Given the description of an element on the screen output the (x, y) to click on. 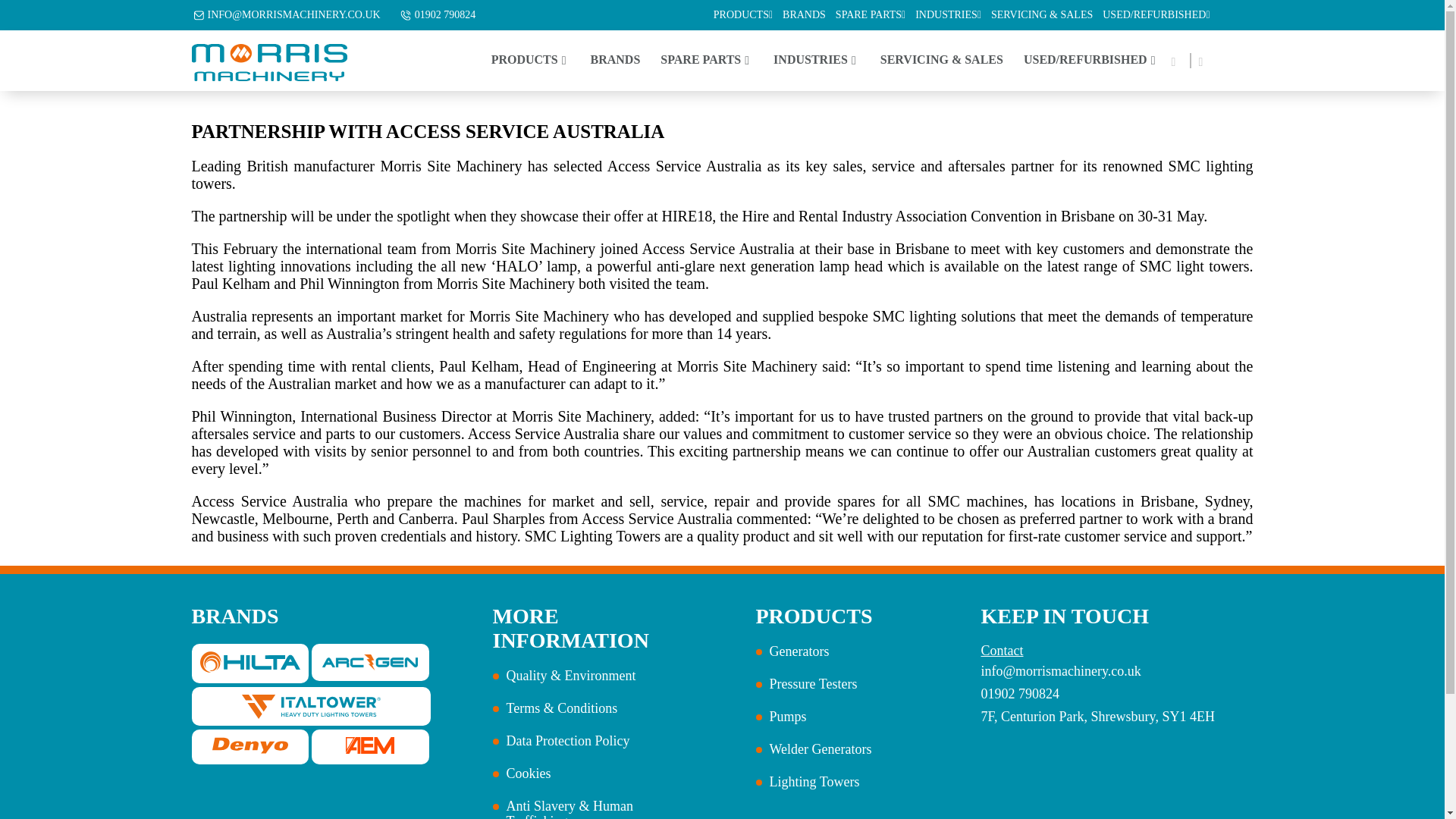
PRODUCTS (530, 60)
PRODUCTS (742, 14)
INDUSTRIES (948, 14)
BRANDS (803, 14)
SPARE PARTS (870, 14)
01902 790824 (445, 14)
